Given the description of an element on the screen output the (x, y) to click on. 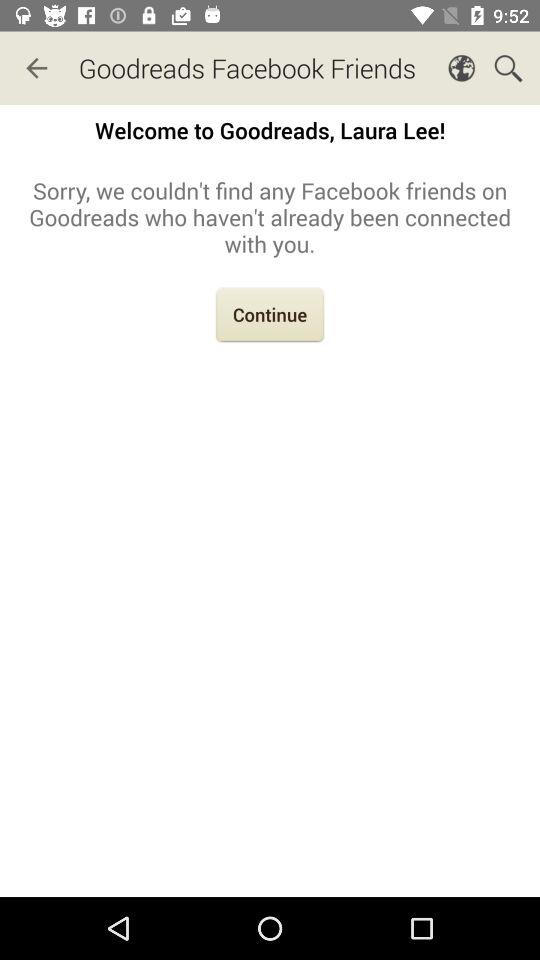
scroll until the continue item (269, 316)
